Given the description of an element on the screen output the (x, y) to click on. 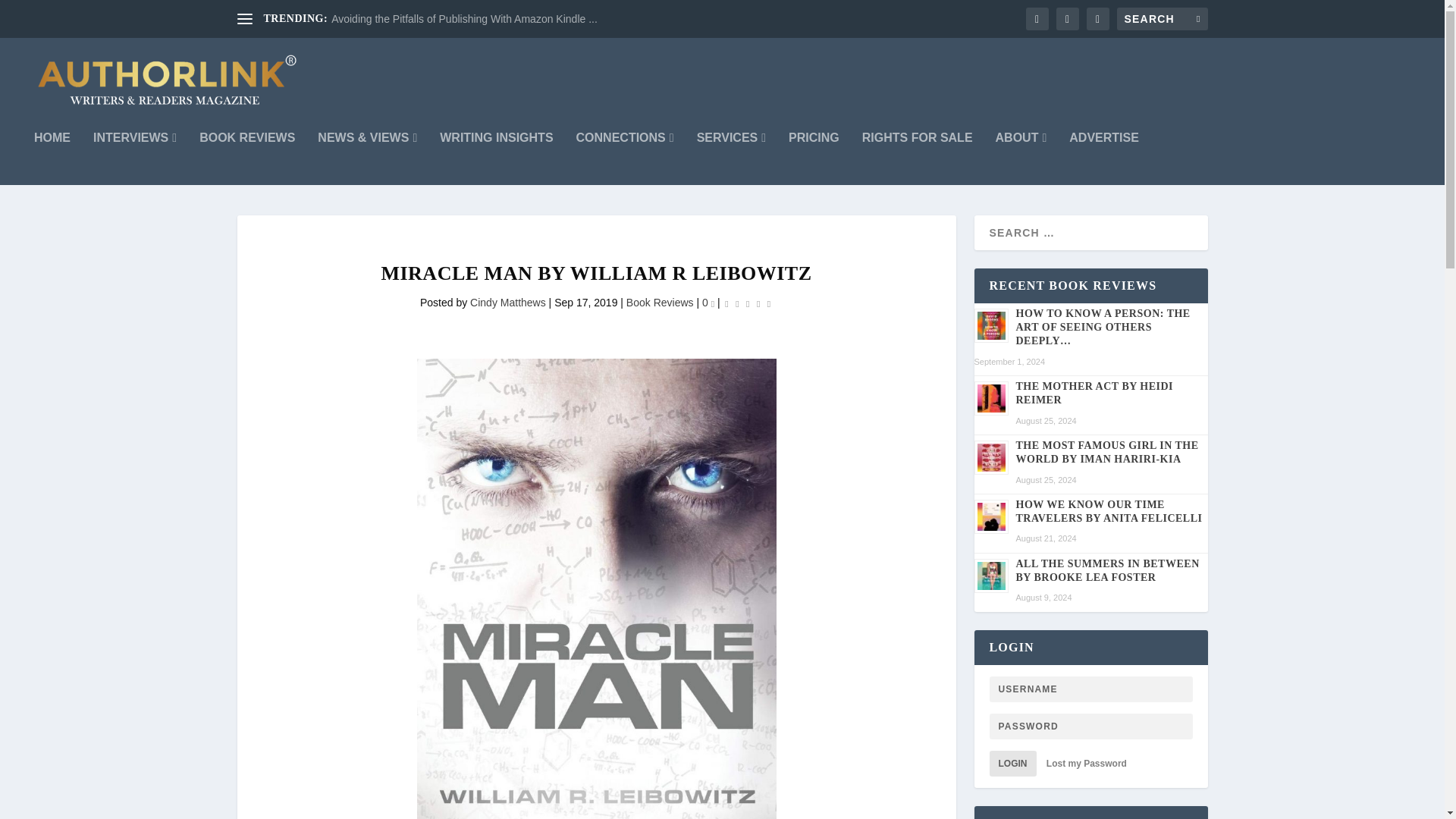
INTERVIEWS (134, 158)
Posts by Cindy Matthews (508, 302)
CONNECTIONS (625, 158)
WRITING INSIGHTS (496, 158)
PRICING (814, 158)
Avoiding the Pitfalls of Publishing With Amazon Kindle ... (463, 19)
ABOUT (1020, 158)
BOOK REVIEWS (247, 158)
RIGHTS FOR SALE (916, 158)
Search for: (1161, 18)
